Given the description of an element on the screen output the (x, y) to click on. 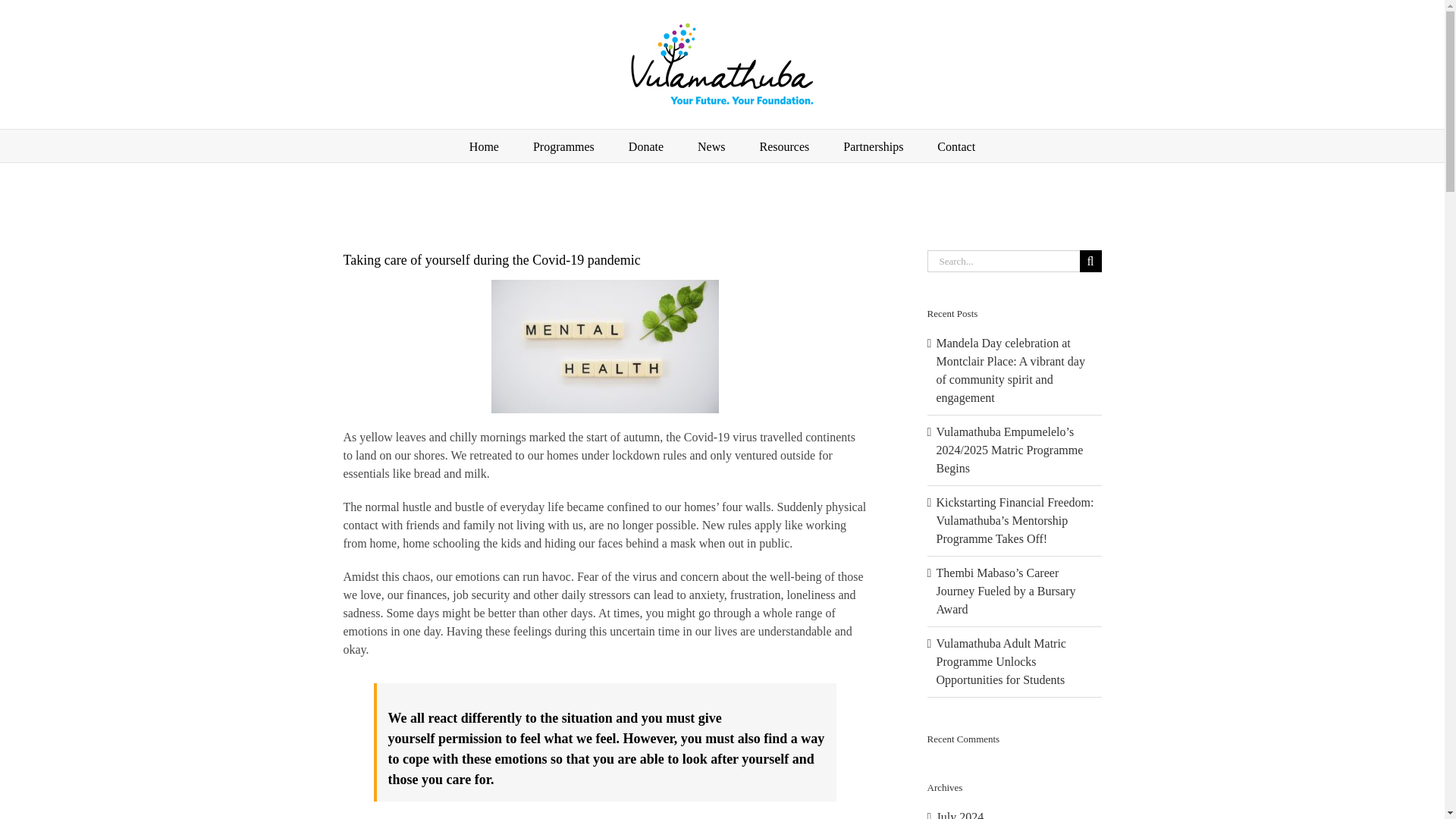
Contact (956, 145)
Partnerships (872, 145)
Programmes (563, 145)
Donate (645, 145)
Resources (783, 145)
July 2024 (960, 814)
Home (483, 145)
